Given the description of an element on the screen output the (x, y) to click on. 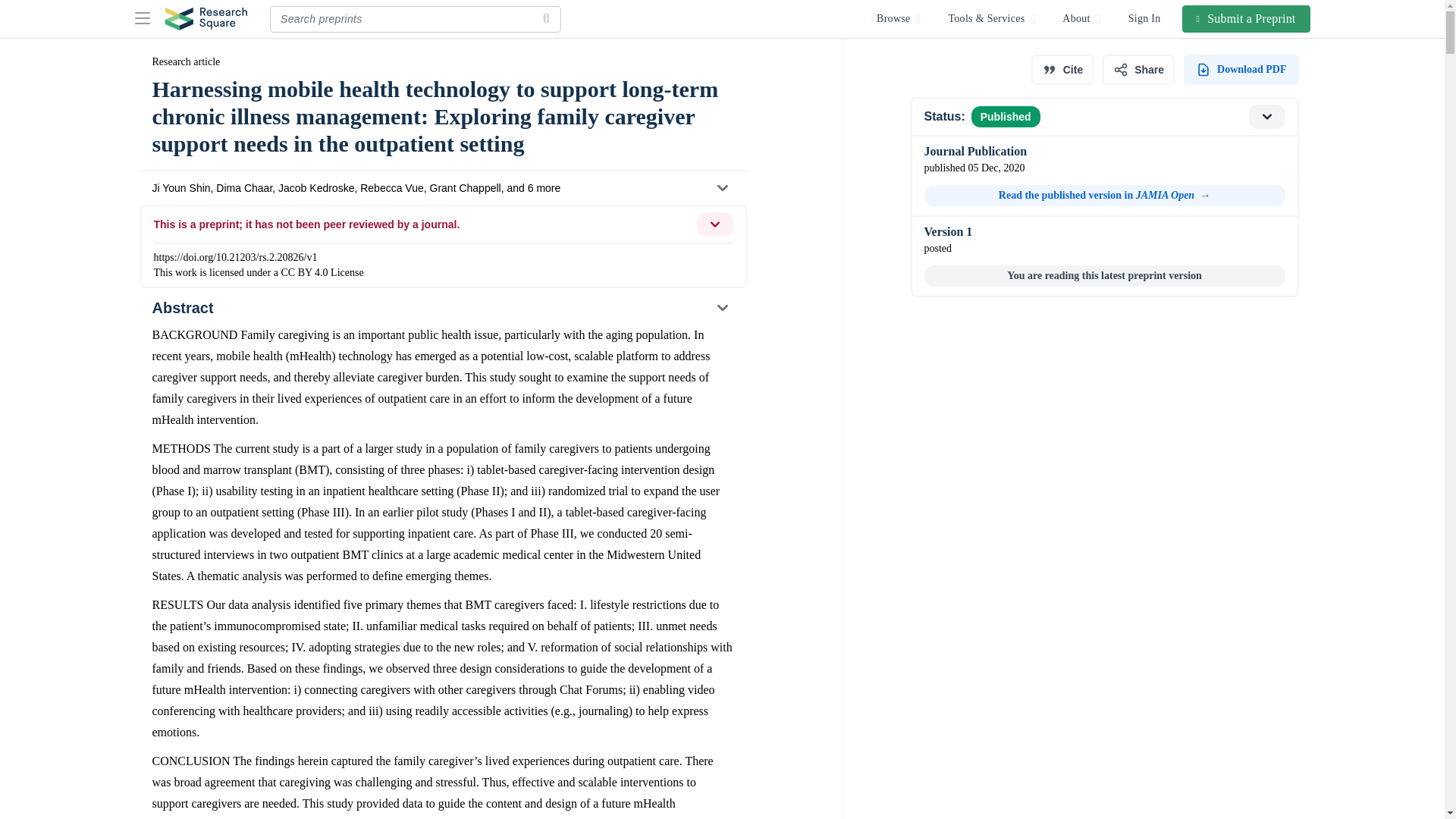
Abstract (442, 307)
Submit a Preprint (1246, 18)
Sign In (1144, 18)
